Given the description of an element on the screen output the (x, y) to click on. 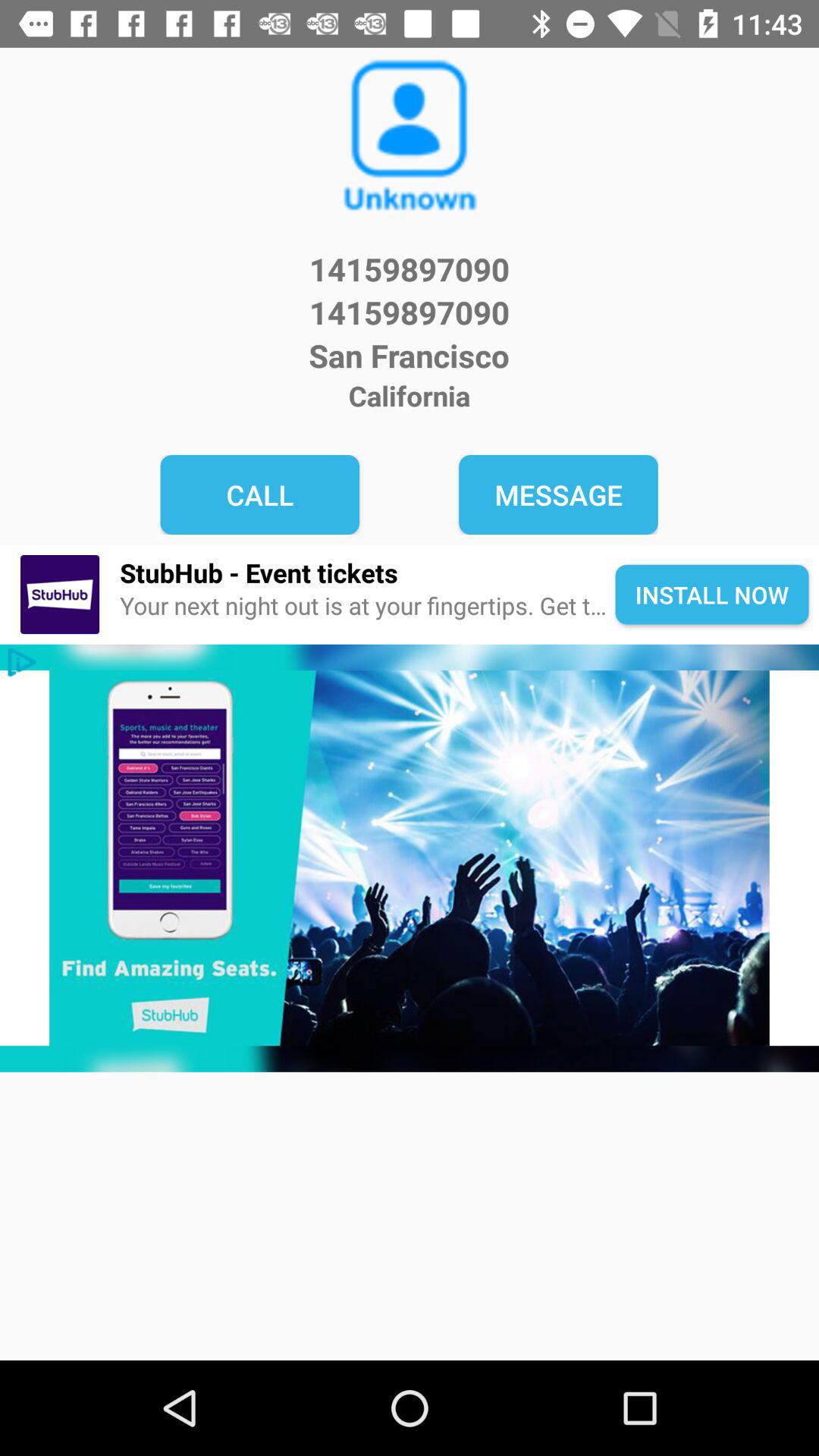
open icon next to install now icon (367, 572)
